Given the description of an element on the screen output the (x, y) to click on. 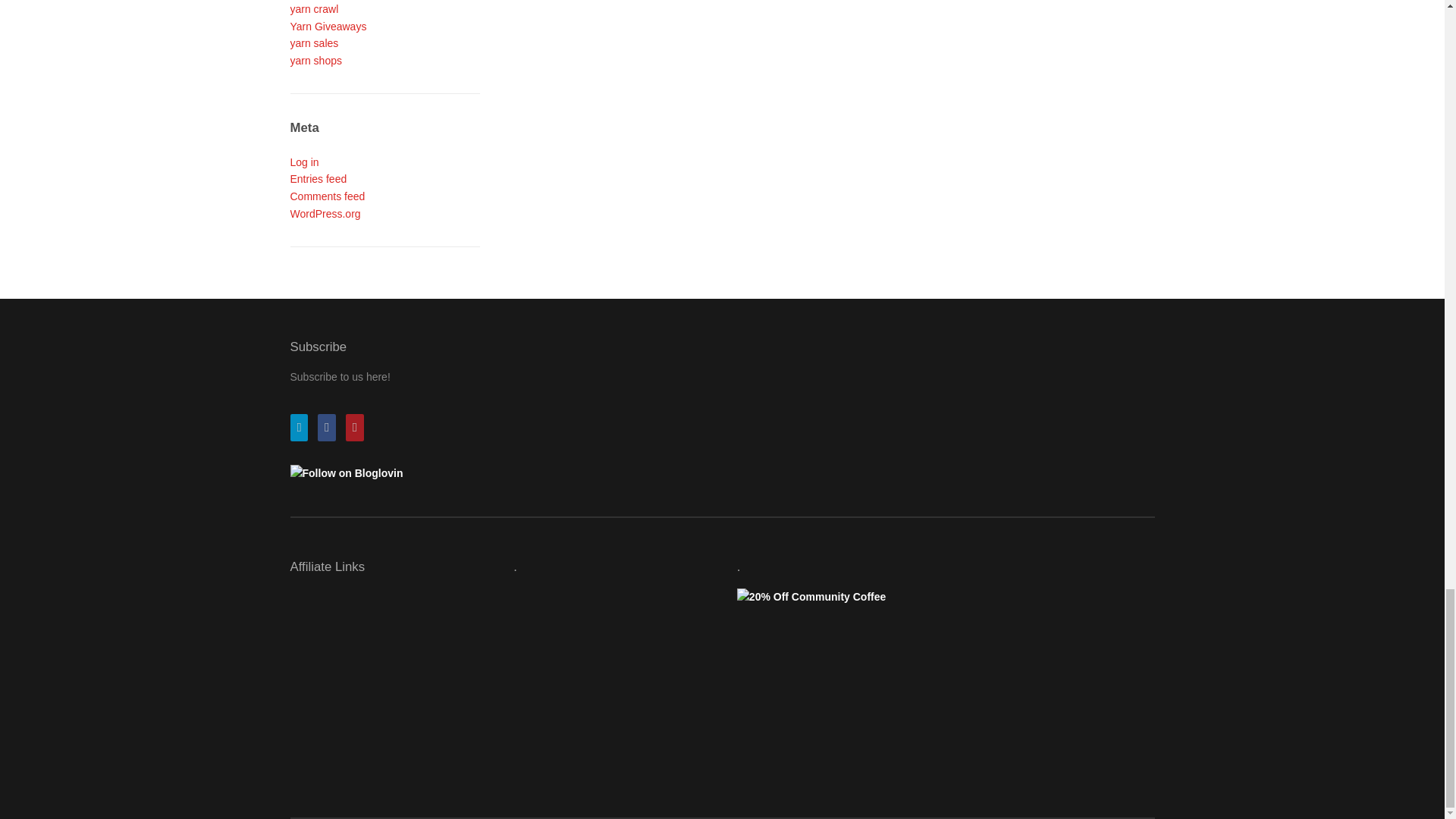
Twitter (301, 427)
